Given the description of an element on the screen output the (x, y) to click on. 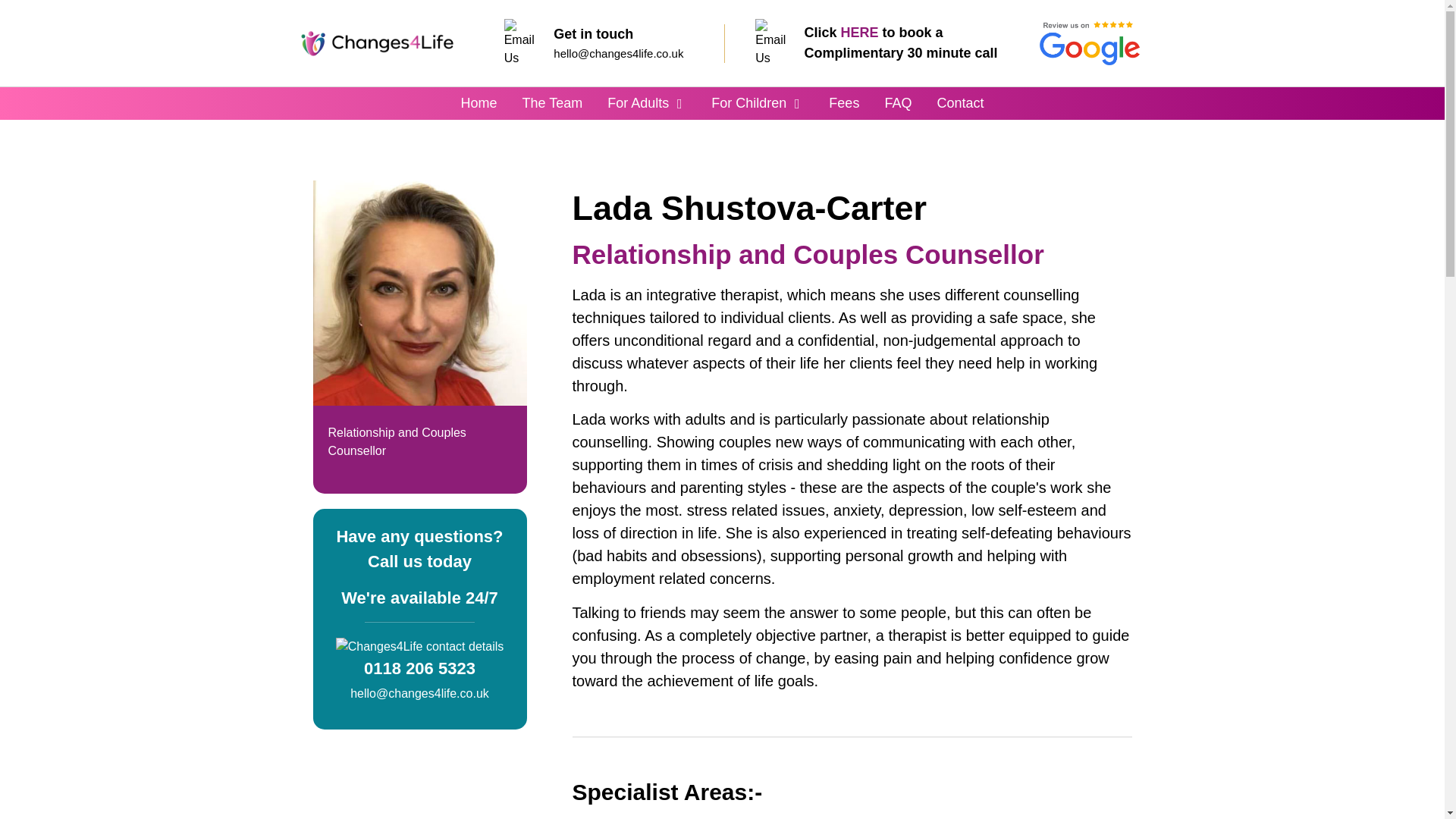
FAQ (897, 103)
The Team (552, 103)
Click HERE to book a Complimentary 30 minute call (901, 42)
0118 206 5323 (420, 668)
For Adults (637, 103)
Home (479, 103)
Fees (843, 103)
Contact (960, 103)
For Children (748, 103)
